Given the description of an element on the screen output the (x, y) to click on. 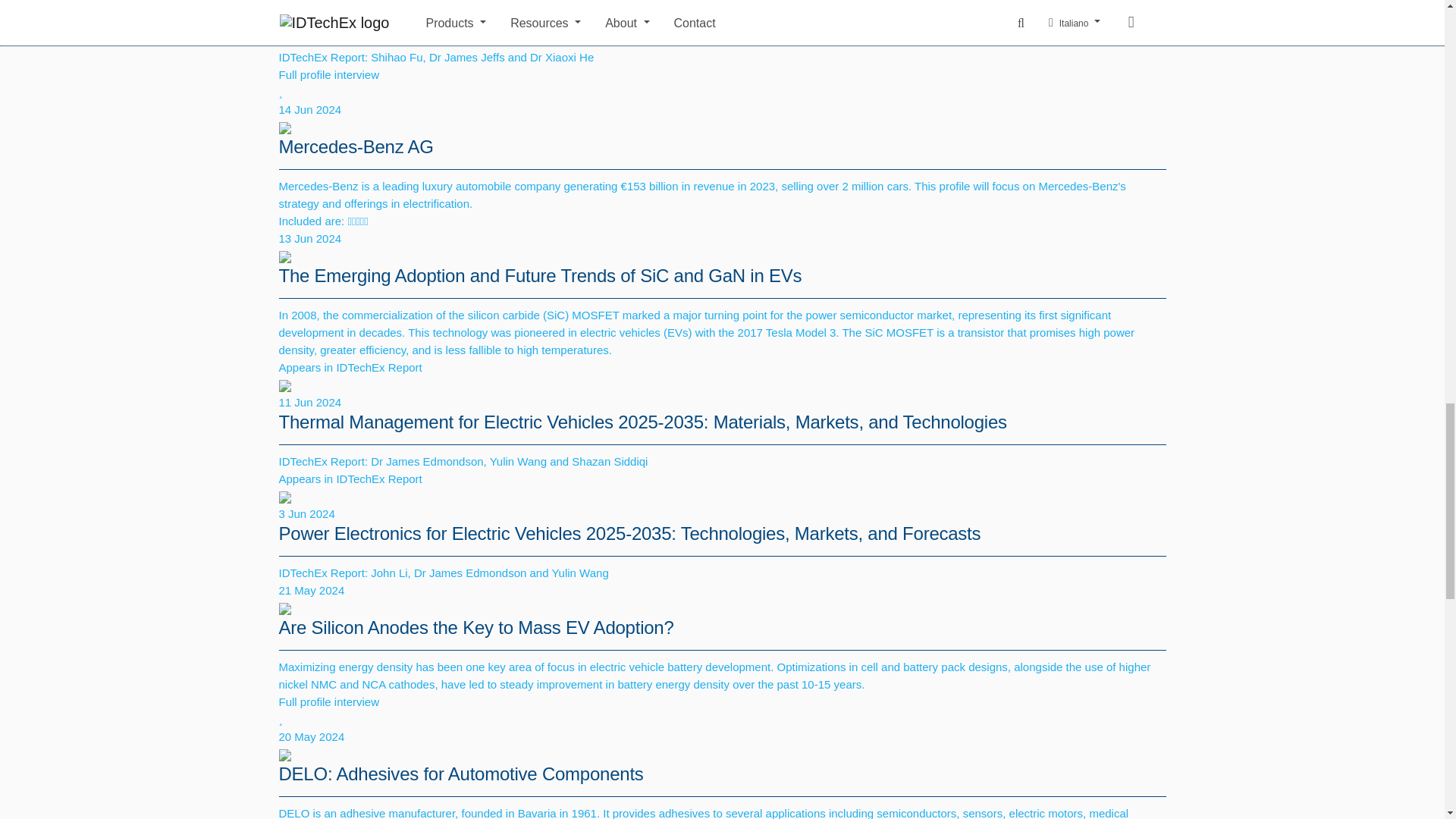
14 Jun 2024 (722, 108)
3 Jun 2024 (722, 513)
11 Jun 2024 (722, 402)
13 Jun 2024 (722, 238)
